Given the description of an element on the screen output the (x, y) to click on. 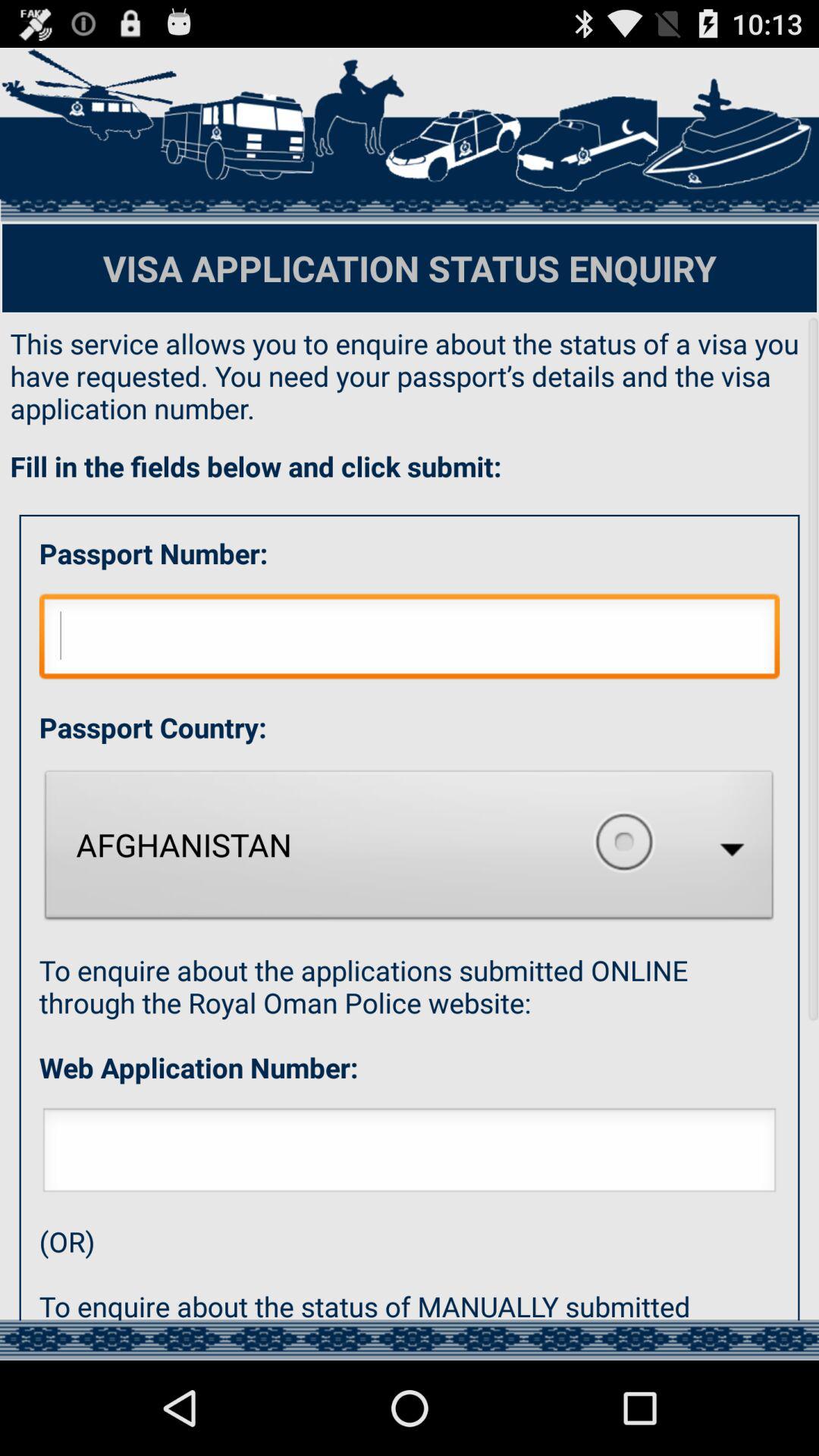
passport icon (409, 640)
